Given the description of an element on the screen output the (x, y) to click on. 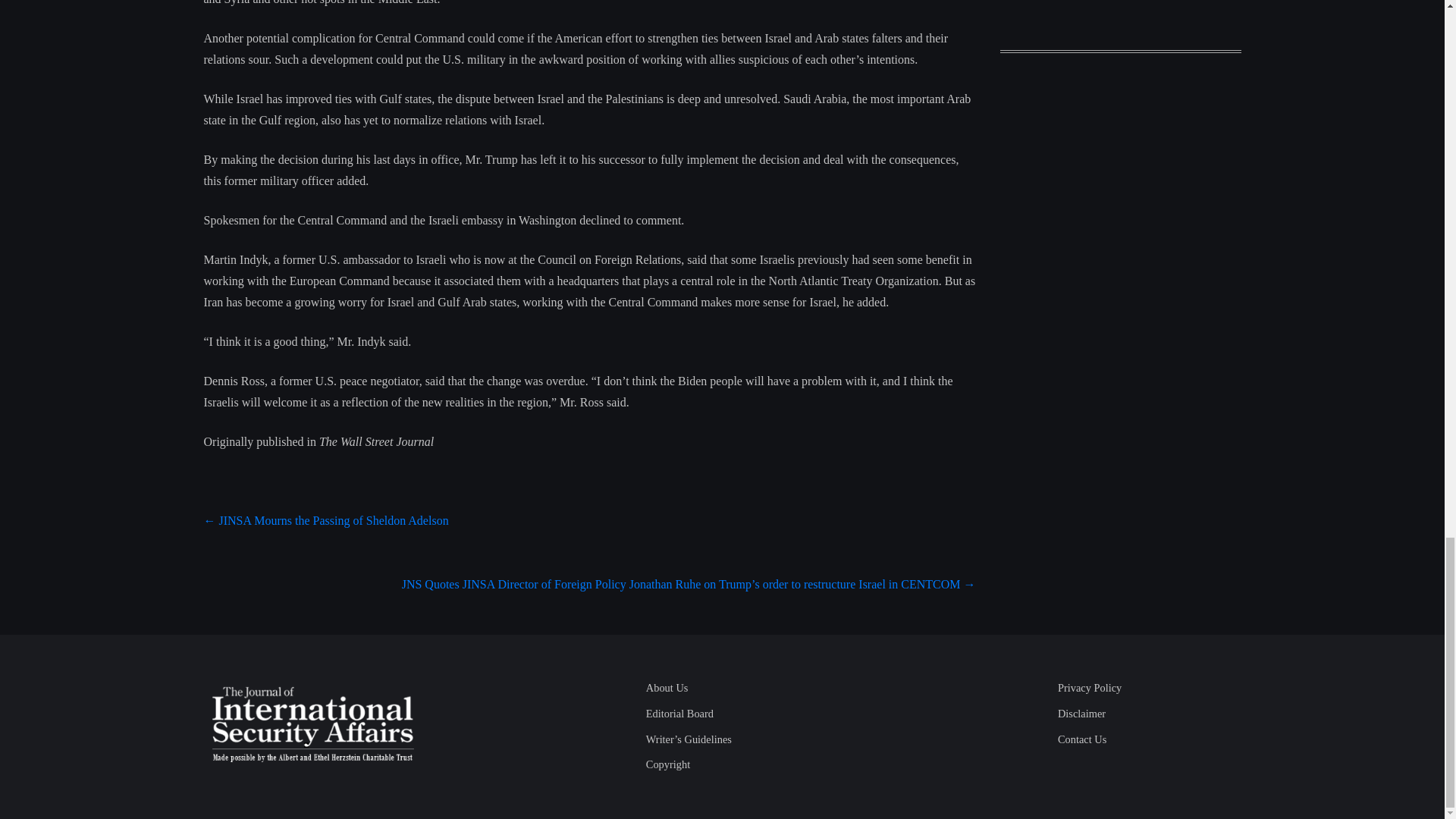
Contact Us (1082, 739)
Copyright (668, 764)
Editorial Board (679, 713)
About Us (667, 687)
Privacy Policy (1089, 687)
Disclaimer (1081, 713)
